Given the description of an element on the screen output the (x, y) to click on. 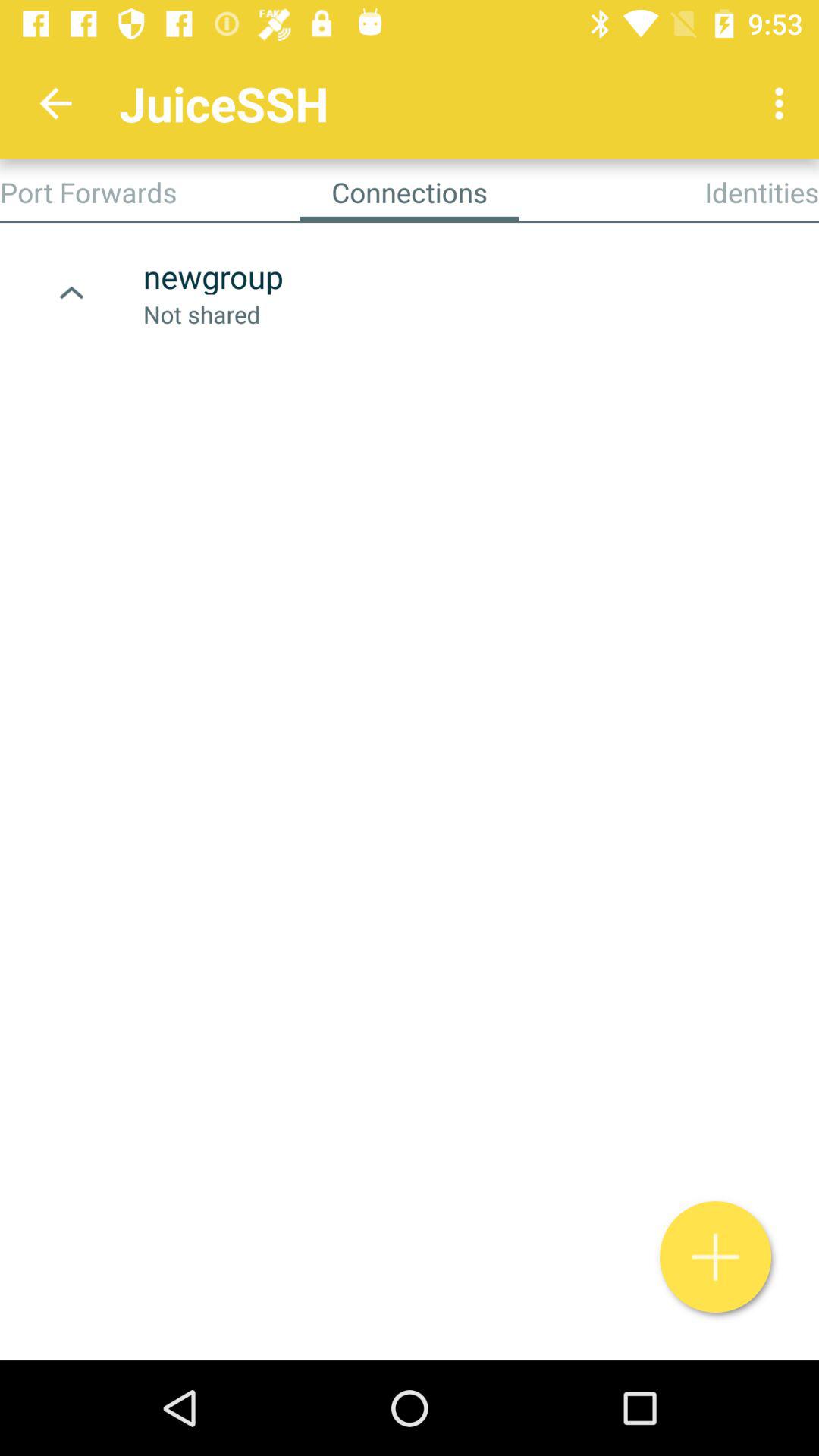
turn off the icon to the right of the juicessh (783, 103)
